Given the description of an element on the screen output the (x, y) to click on. 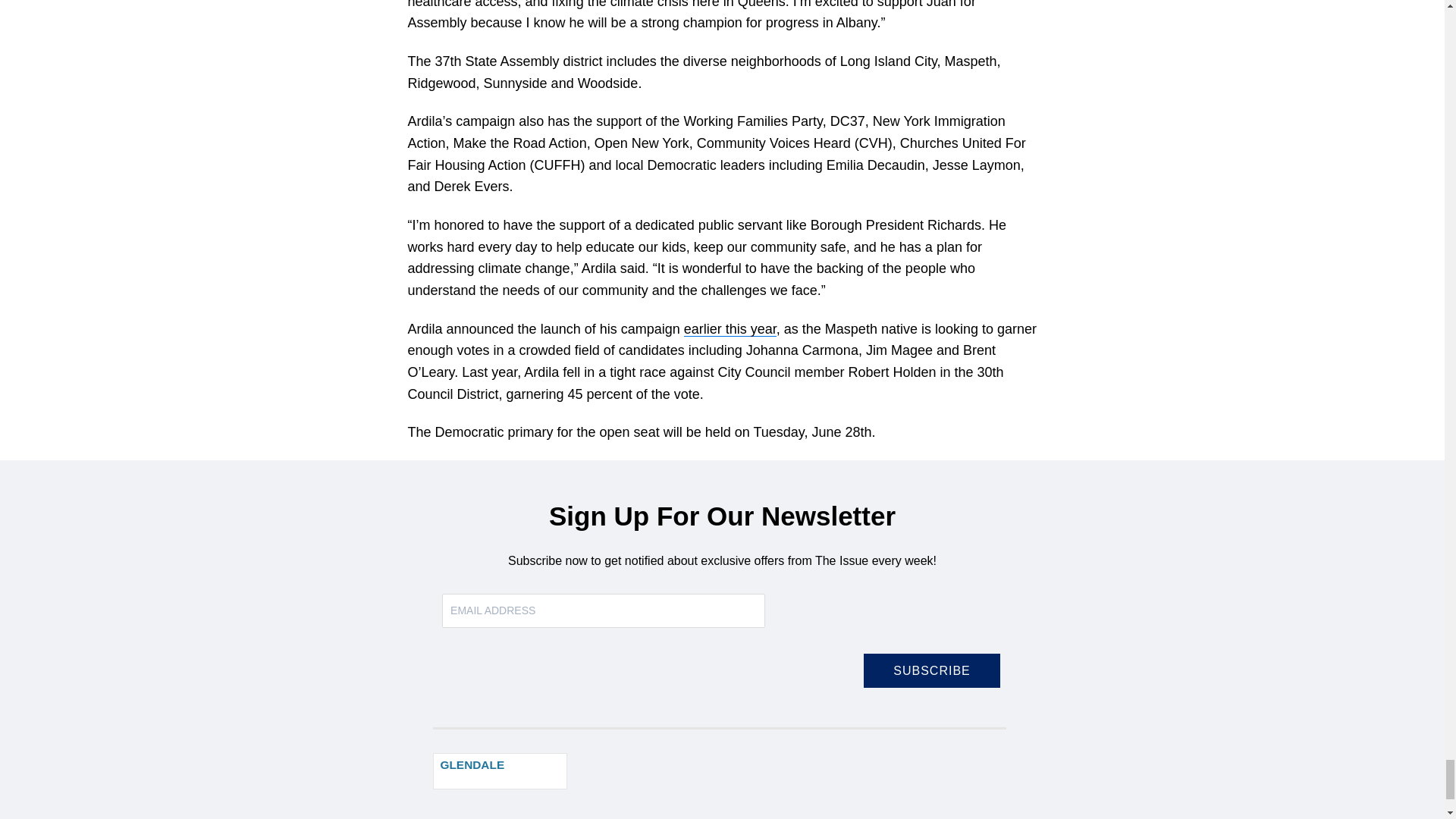
Subscribe (931, 670)
GLENDALE (471, 764)
GLENDALE (500, 770)
